Given the description of an element on the screen output the (x, y) to click on. 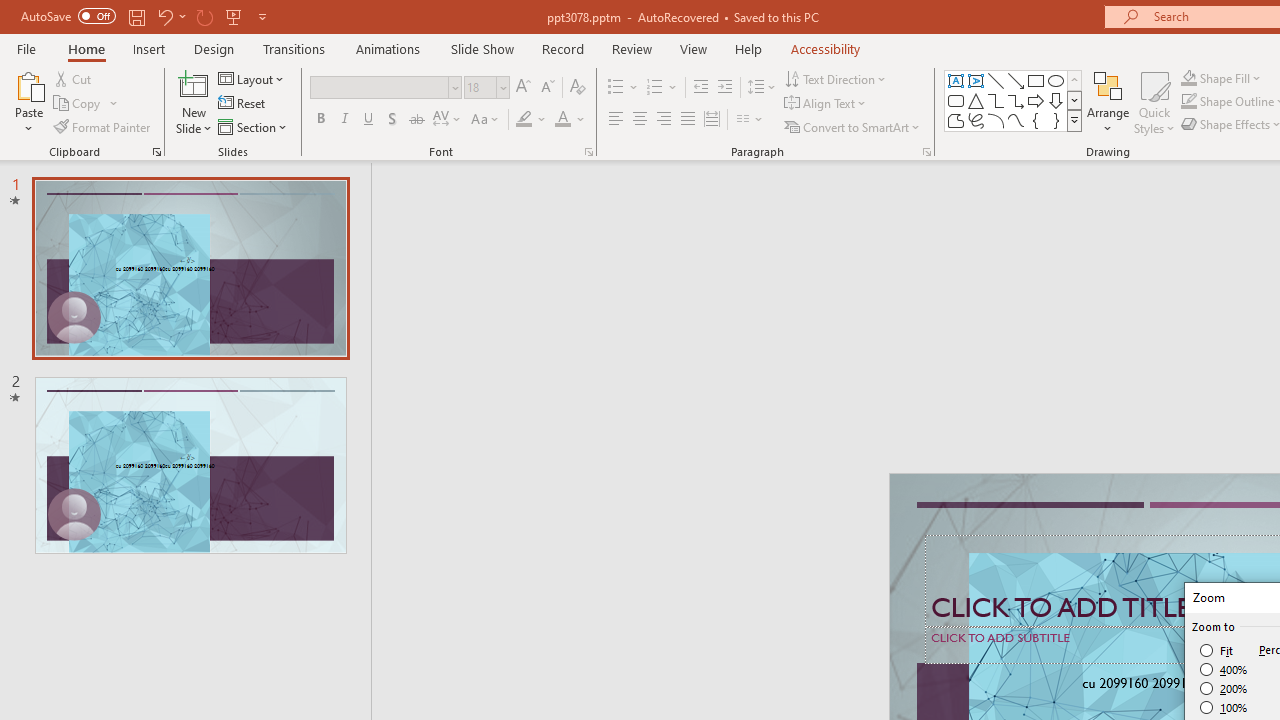
100% (1224, 707)
Character Spacing (447, 119)
